Given the description of an element on the screen output the (x, y) to click on. 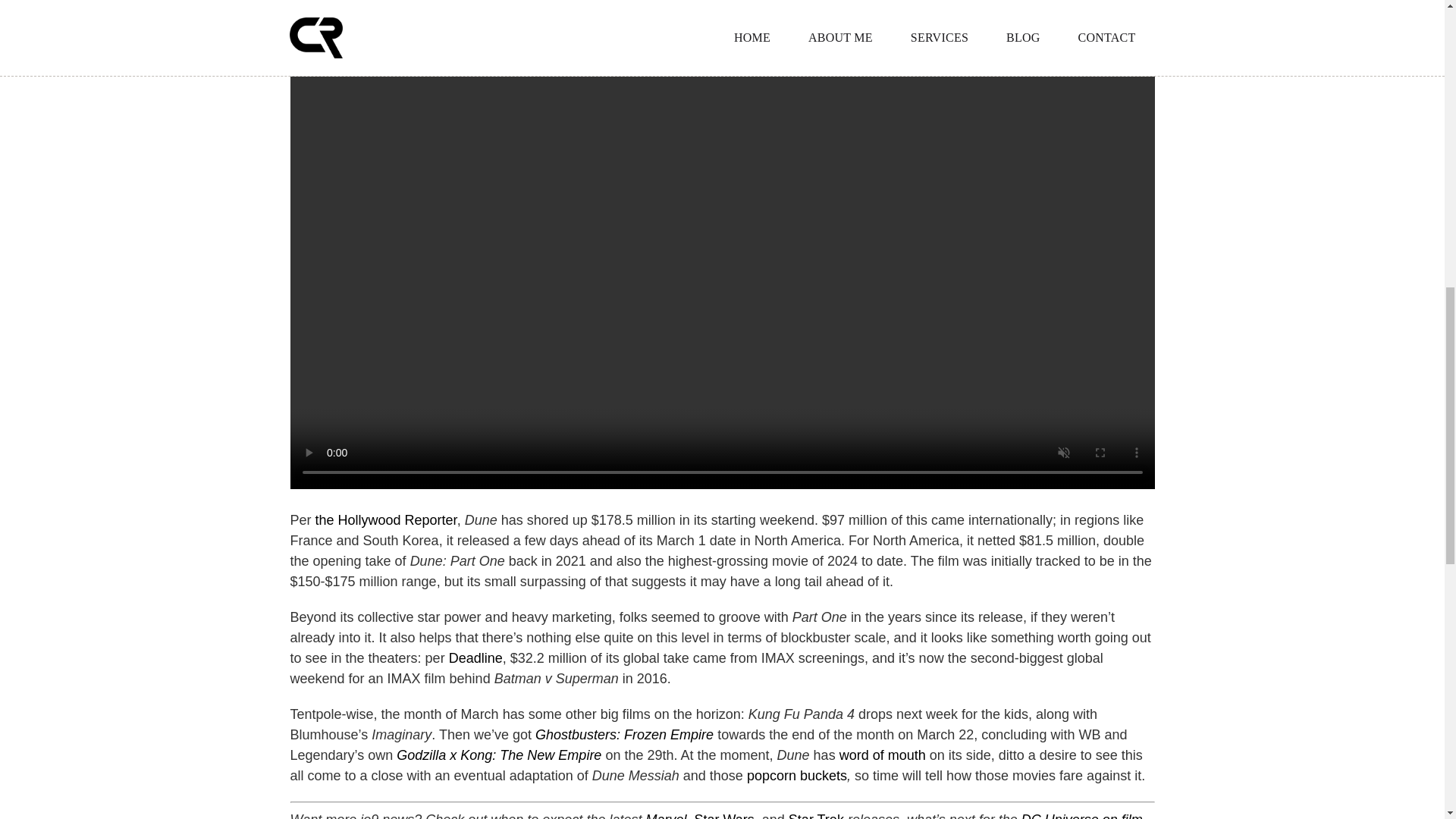
Star Trek (816, 815)
the Hollywood Reporter (386, 519)
word of mouth (883, 754)
Deadline (475, 657)
Star Wars (724, 815)
popcorn buckets (796, 775)
Godzilla x Kong: The New Empire (498, 754)
Marvel (665, 815)
Ghostbusters: Frozen Empire (624, 734)
